Given the description of an element on the screen output the (x, y) to click on. 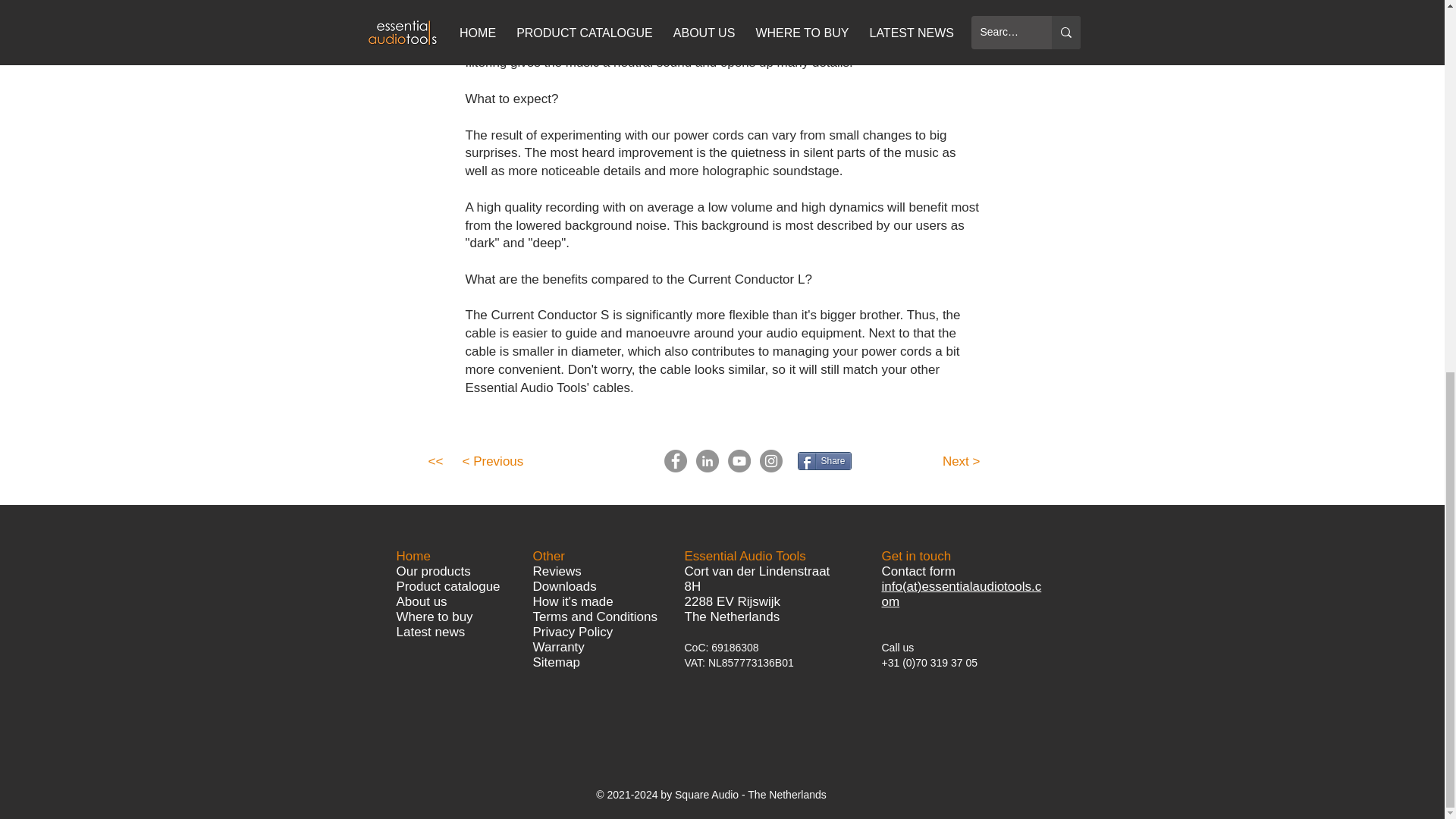
Latest news (430, 631)
Where to buy (433, 616)
Our products (433, 571)
Share (824, 461)
Home (412, 555)
About us (421, 601)
Product catalogue (447, 586)
Share (824, 461)
